Given the description of an element on the screen output the (x, y) to click on. 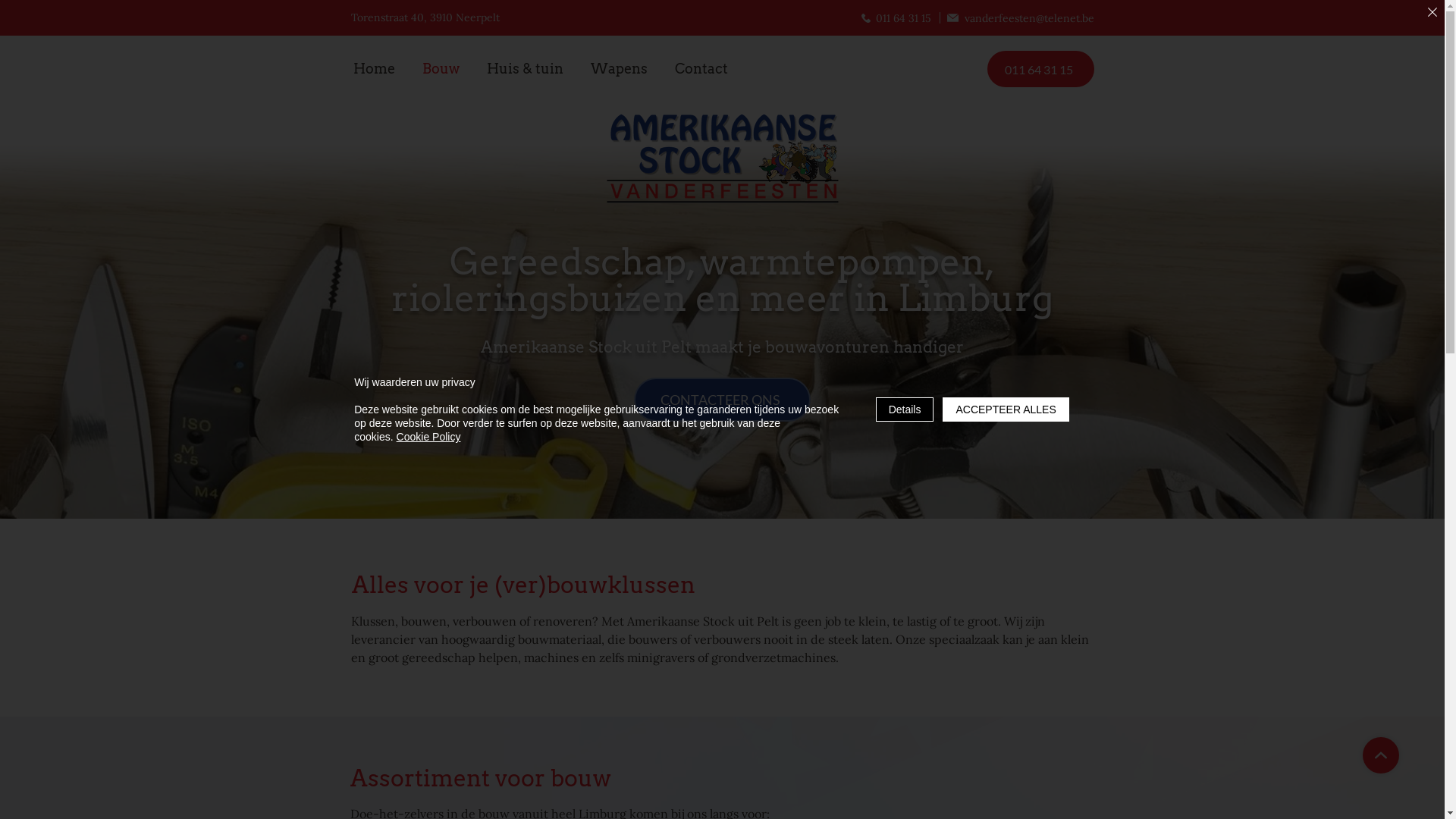
011 64 31 15 Element type: text (1040, 68)
Cookie Policy Element type: text (428, 436)
Contact Element type: text (700, 68)
vanderfeesten@telenet.be Element type: text (1014, 17)
ACCEPTEER ALLES Element type: text (1005, 409)
Details Element type: text (904, 409)
011 64 31 15 Element type: text (895, 17)
CONTACTEER ONS Element type: text (721, 399)
Bouw Element type: text (440, 68)
Home Element type: text (373, 68)
Wapens Element type: text (618, 68)
Huis & tuin Element type: text (523, 68)
